Given the description of an element on the screen output the (x, y) to click on. 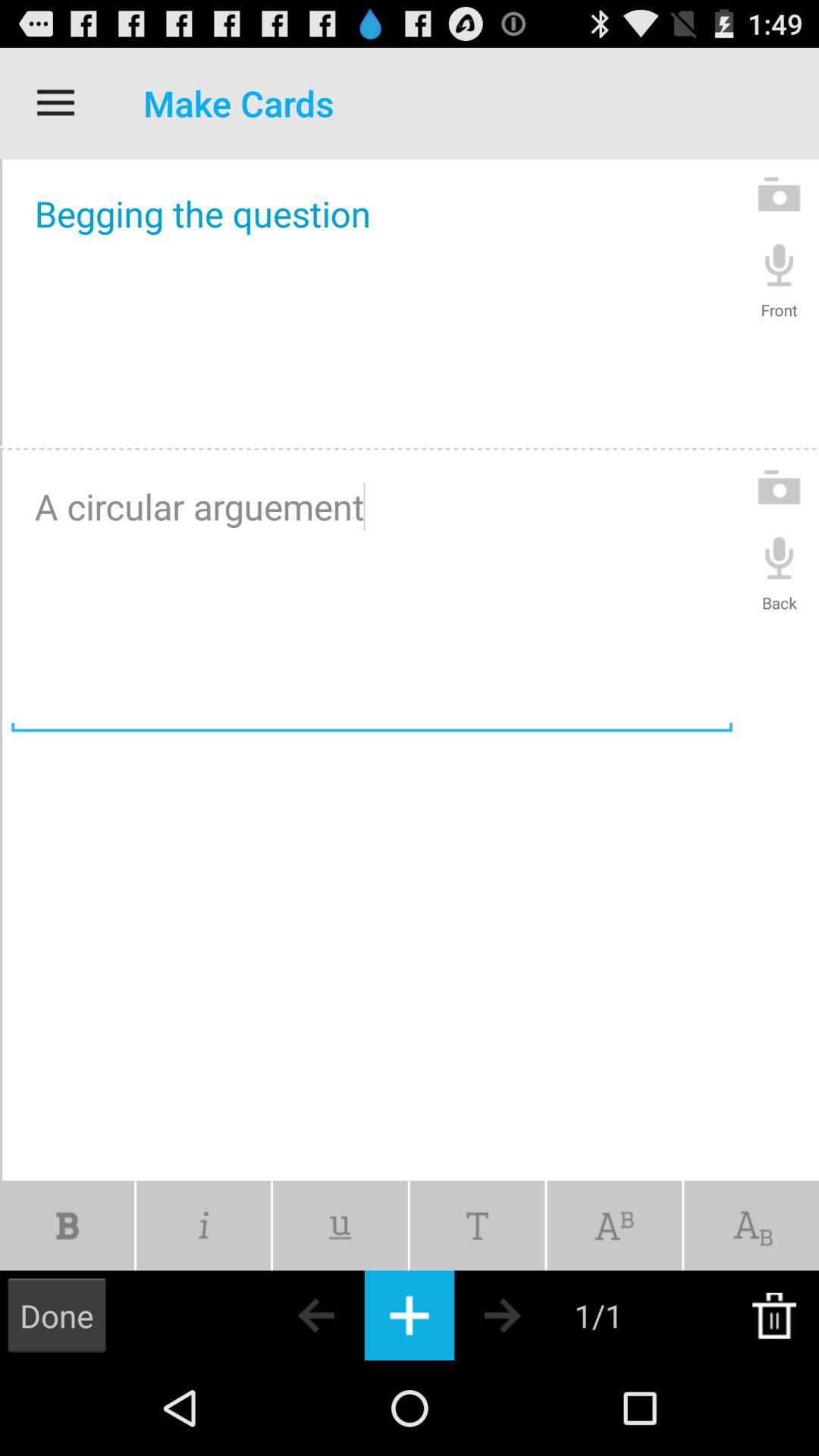
open begging the question icon (371, 302)
